Given the description of an element on the screen output the (x, y) to click on. 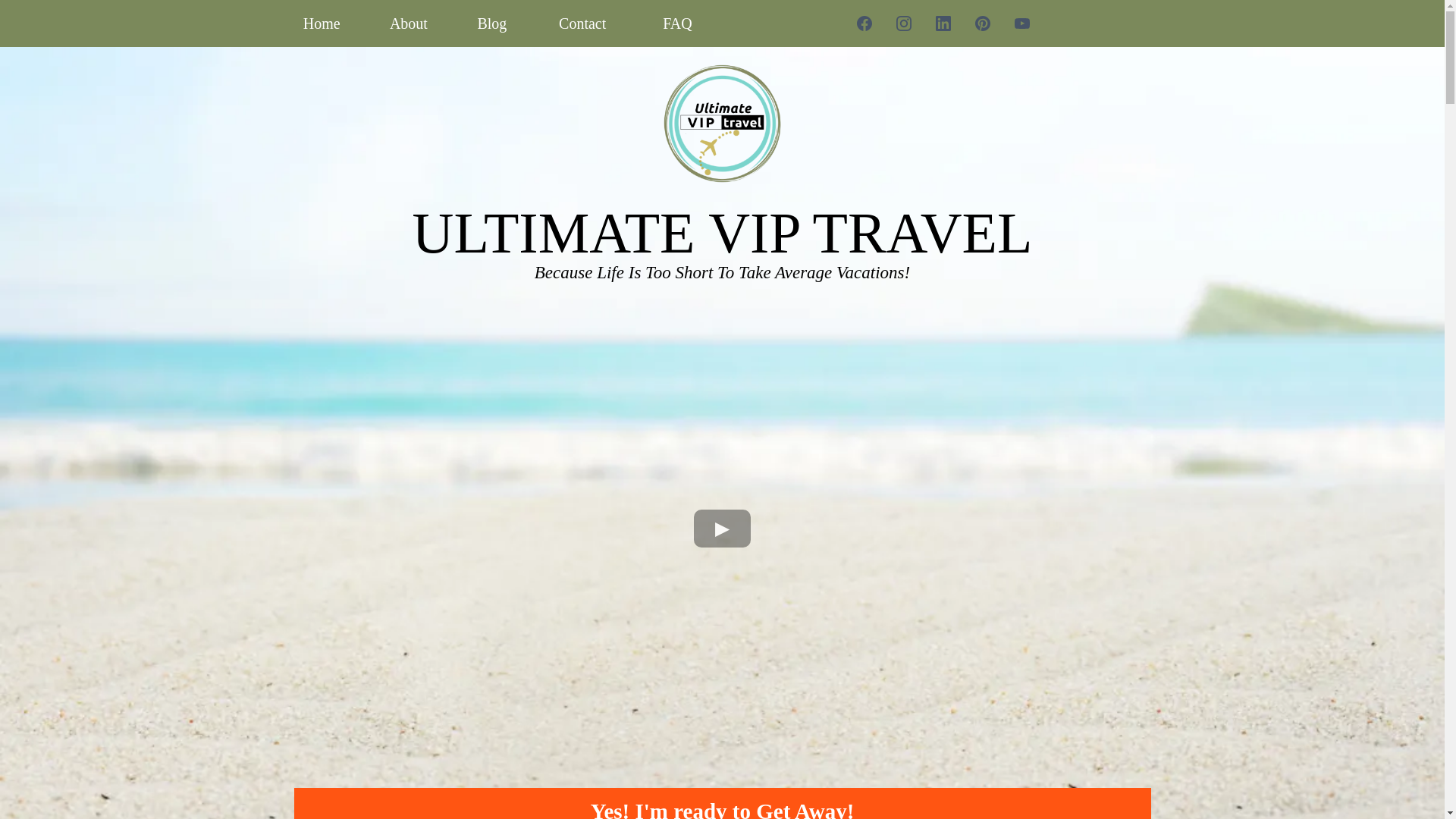
Home (321, 23)
Yes! I'm ready to Get Away! (722, 803)
Contact (582, 23)
Blog (491, 23)
FAQ (677, 23)
About (409, 23)
